Given the description of an element on the screen output the (x, y) to click on. 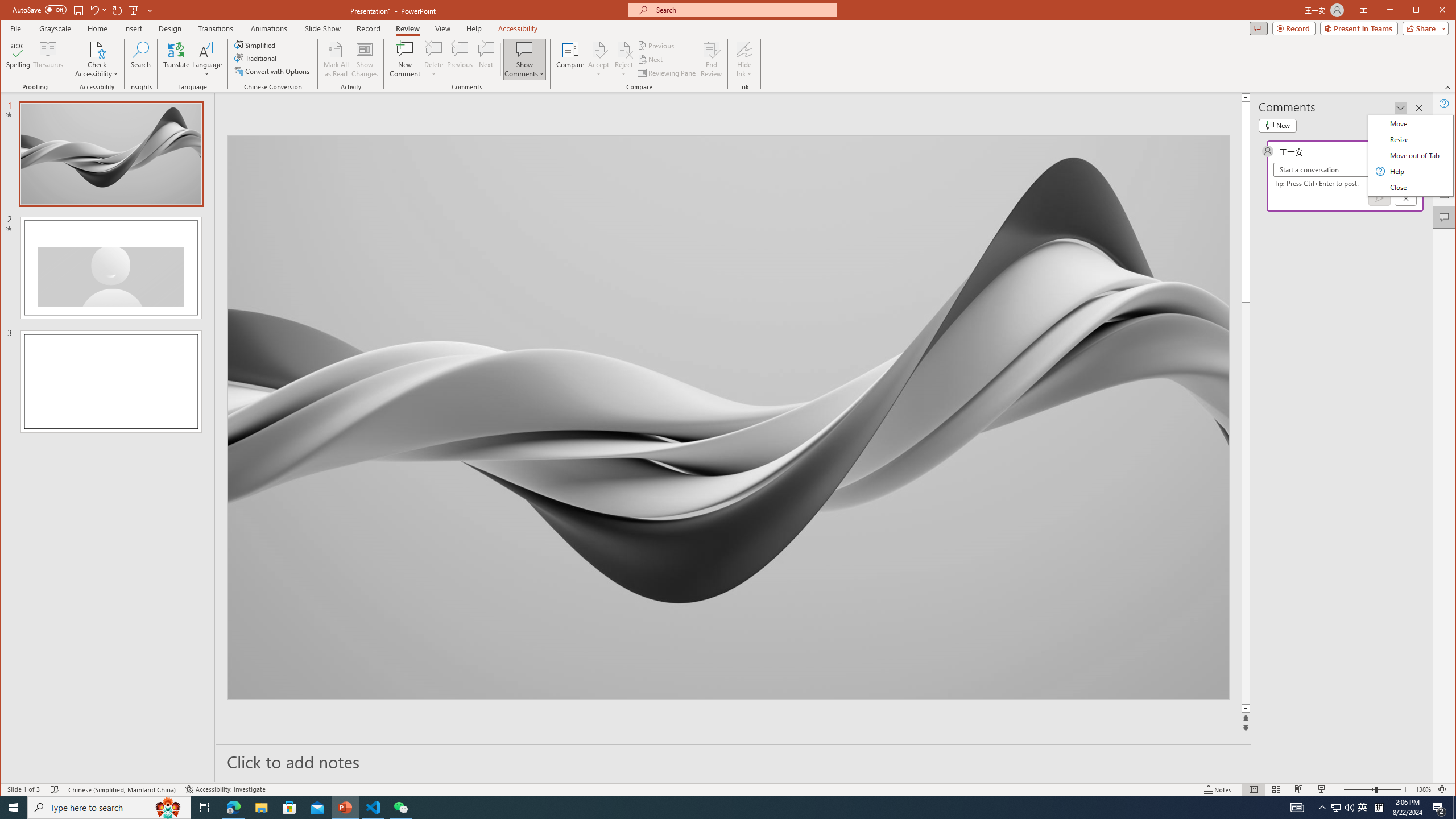
End Review (710, 59)
Zoom (1371, 789)
Minimize (1419, 11)
Microsoft search (742, 10)
Zoom Out (1358, 789)
Maximize (1432, 11)
Help (1444, 102)
Task View (204, 807)
Quick Access Toolbar (83, 9)
Accessibility Checker Accessibility: Investigate (225, 789)
Mark All as Read (335, 59)
Slide Sorter (1276, 789)
Home (97, 28)
Normal (1253, 789)
Close (1444, 11)
